Given the description of an element on the screen output the (x, y) to click on. 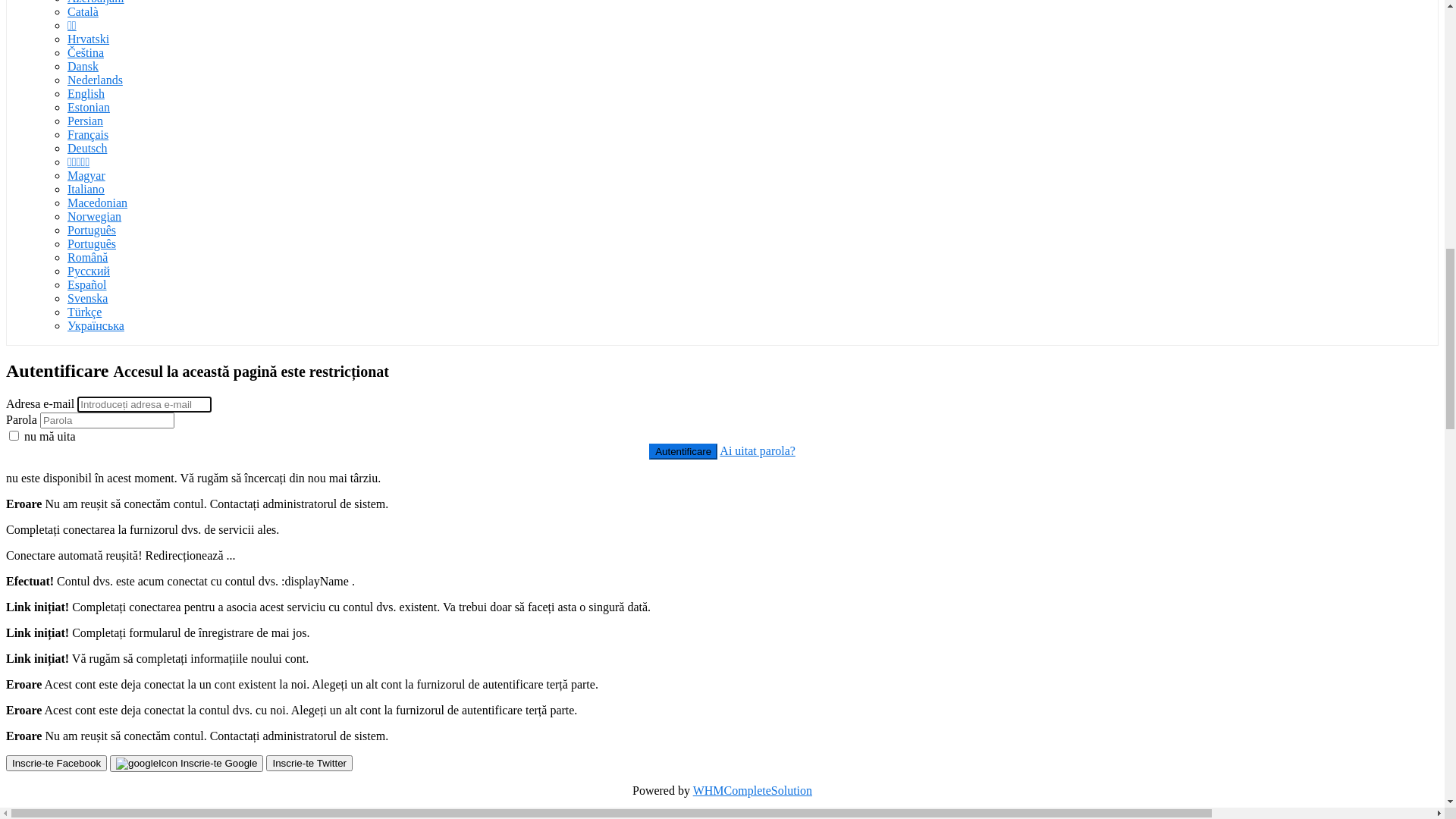
Toggle navigation Element type: text (51, 315)
Italiano Element type: text (85, 805)
Contul meu Element type: text (65, 573)
Deutsch Element type: text (86, 764)
02 8806 3557 Element type: text (113, 241)
Home Element type: text (88, 159)
Nederlands Element type: text (94, 696)
Services Element type: text (94, 173)
Estonian Element type: text (88, 723)
NCE Suite offering Element type: text (114, 395)
Education Element type: text (91, 423)
Magyar Element type: text (86, 791)
Hrvatski Element type: text (88, 655)
----- Element type: text (77, 464)
Transfer domenii Element type: text (108, 491)
Persian Element type: text (85, 737)
Magazin   Element type: text (61, 354)
The IT Hub Element type: text (102, 214)
NCE Standalone offering / Add-on Element type: text (151, 409)
Managed Service Provider Element type: text (132, 450)
Shared Hosting Element type: text (104, 436)
About Us Element type: text (97, 200)
English Element type: text (85, 709)
Starea sistemelor Element type: text (78, 532)
Contact Element type: text (56, 545)
Azerbaijani Element type: text (95, 614)
----- Element type: text (77, 382)
Dansk Element type: text (82, 682)
Industries Element type: text (98, 187)
